Given the description of an element on the screen output the (x, y) to click on. 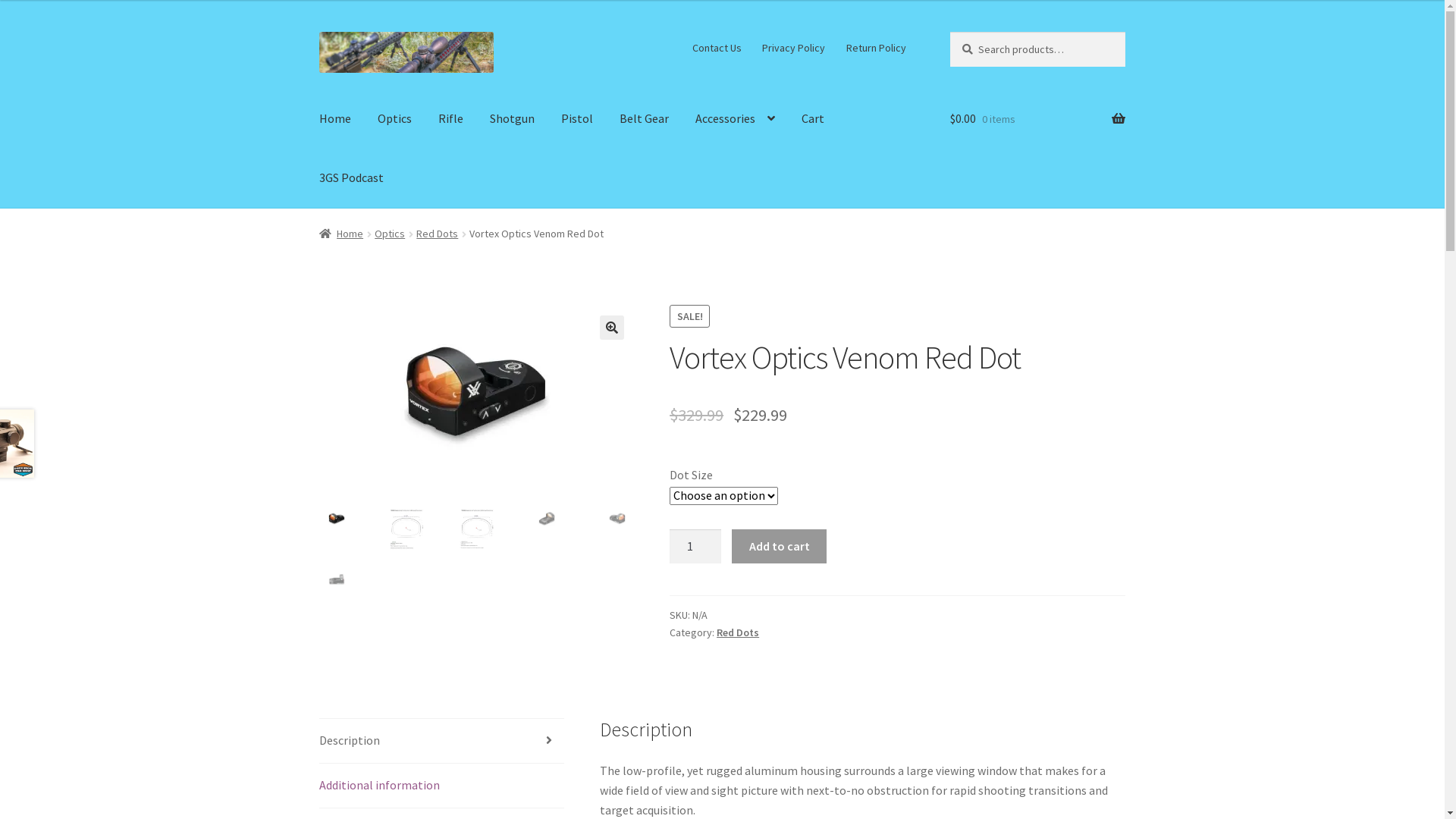
Accessories Element type: text (735, 118)
Optics Element type: text (394, 118)
Search Element type: text (949, 31)
Qty Element type: hover (695, 546)
Shotgun Element type: text (511, 118)
Additional information Element type: text (441, 785)
Skip to navigation Element type: text (318, 31)
Red Dots Element type: text (437, 233)
SUB-RD-VENOM-3MOA Element type: hover (784, 481)
Red Dots Element type: text (737, 632)
Rifle Element type: text (450, 118)
Pistol Element type: text (577, 118)
Description Element type: text (441, 740)
Home Element type: text (341, 233)
Cart Element type: text (812, 118)
Contact Us Element type: text (716, 47)
$0.00 0 items Element type: text (1037, 118)
Privacy Policy Element type: text (793, 47)
Add to cart Element type: text (778, 546)
Belt Gear Element type: text (643, 118)
Return Policy Element type: text (875, 47)
Home Element type: text (335, 118)
Optics Element type: text (389, 233)
vtx_rd_venom_moa_fl_w Element type: hover (476, 396)
3GS Podcast Element type: text (351, 177)
